Given the description of an element on the screen output the (x, y) to click on. 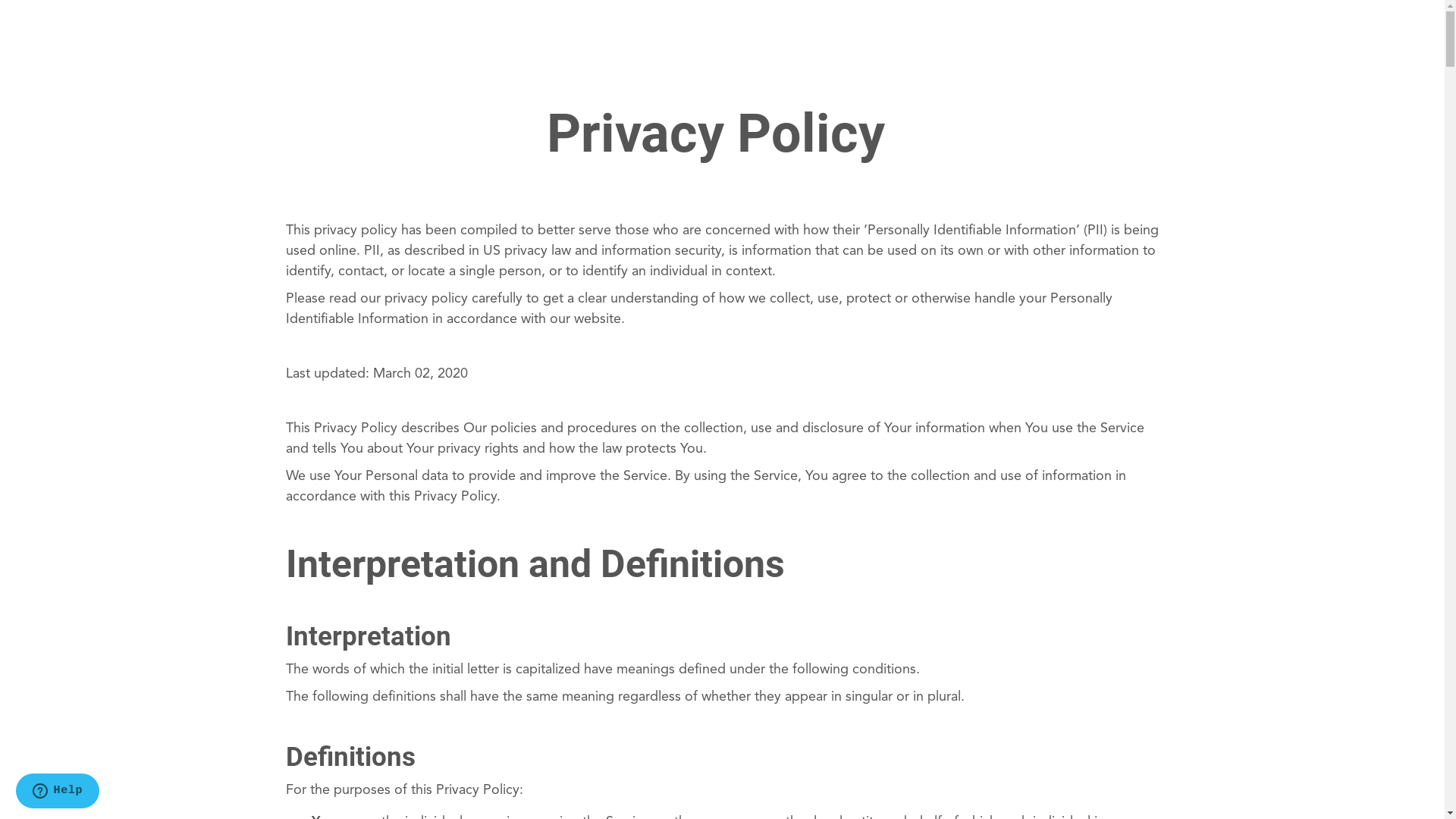
Opens a widget where you can find more information Element type: hover (57, 792)
